Given the description of an element on the screen output the (x, y) to click on. 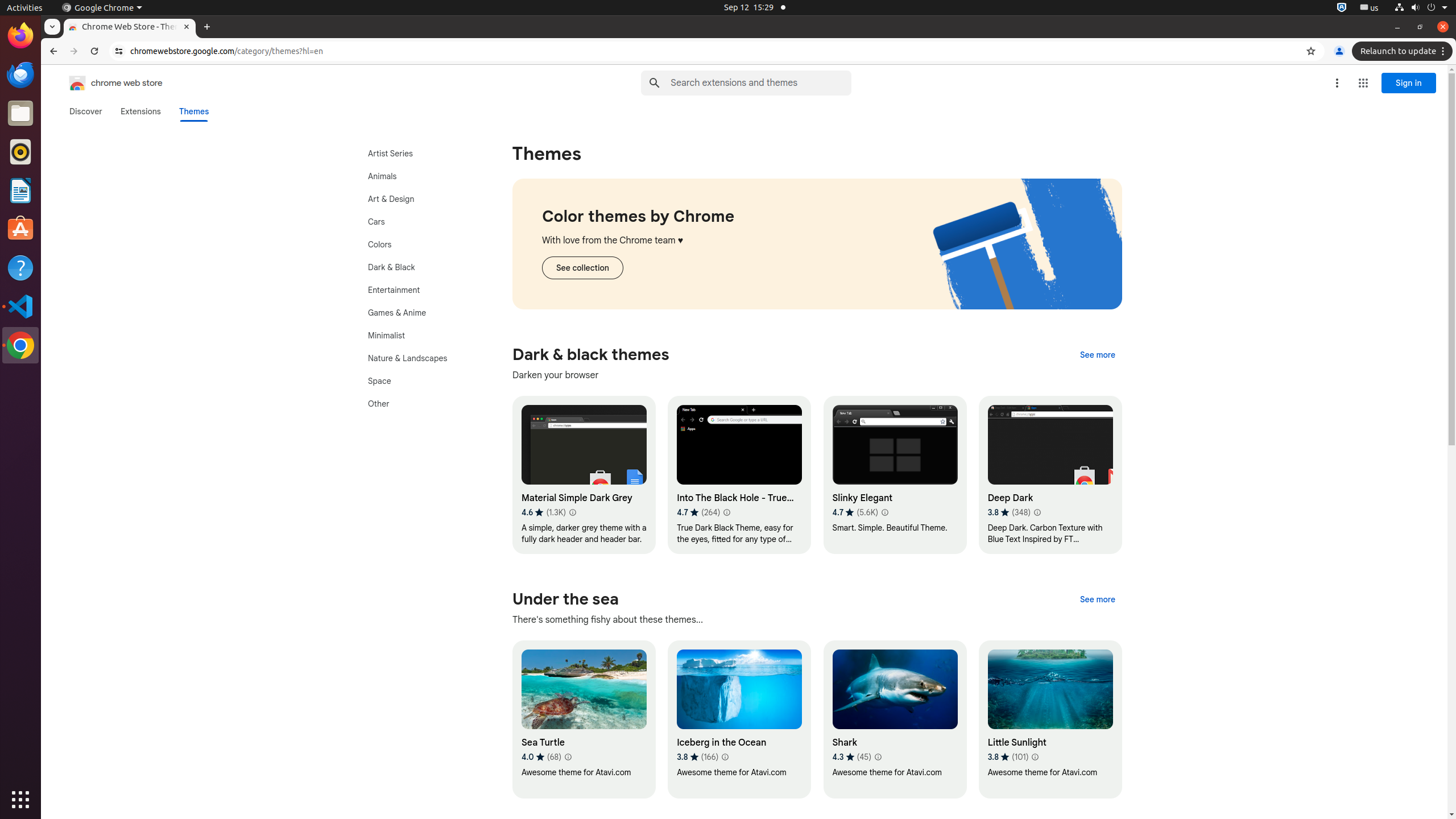
Learn more about results and reviews "Slinky Elegant" Element type: push-button (883, 512)
Help Element type: push-button (20, 267)
Dark & Black Element type: menu-item (419, 266)
Google Chrome Element type: menu (101, 7)
See more of the "Dark & black themes" collection Element type: link (1097, 354)
